Given the description of an element on the screen output the (x, y) to click on. 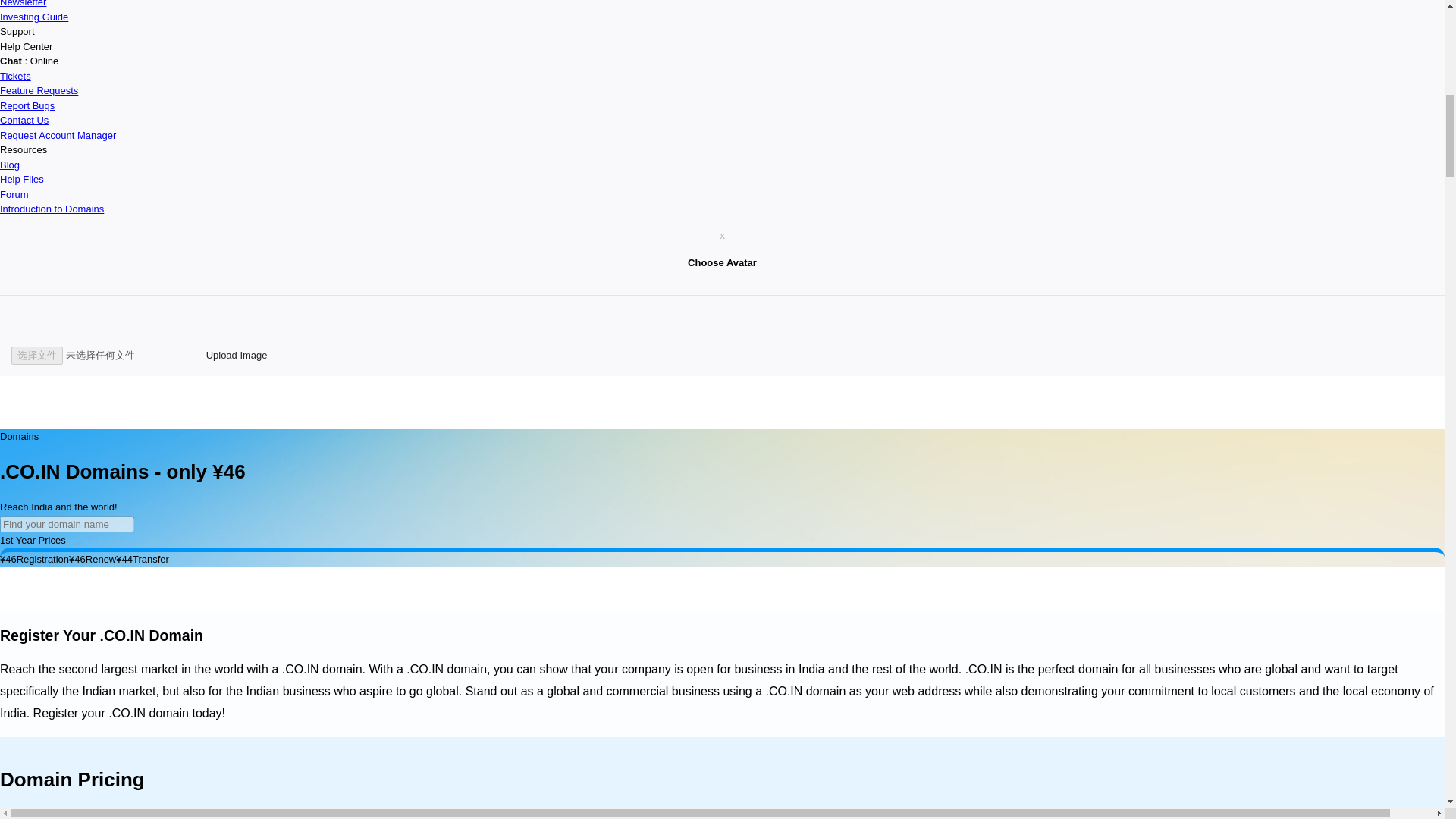
Newsletter (23, 3)
Tickets (15, 75)
x (721, 235)
Investing Guide (34, 16)
